Given the description of an element on the screen output the (x, y) to click on. 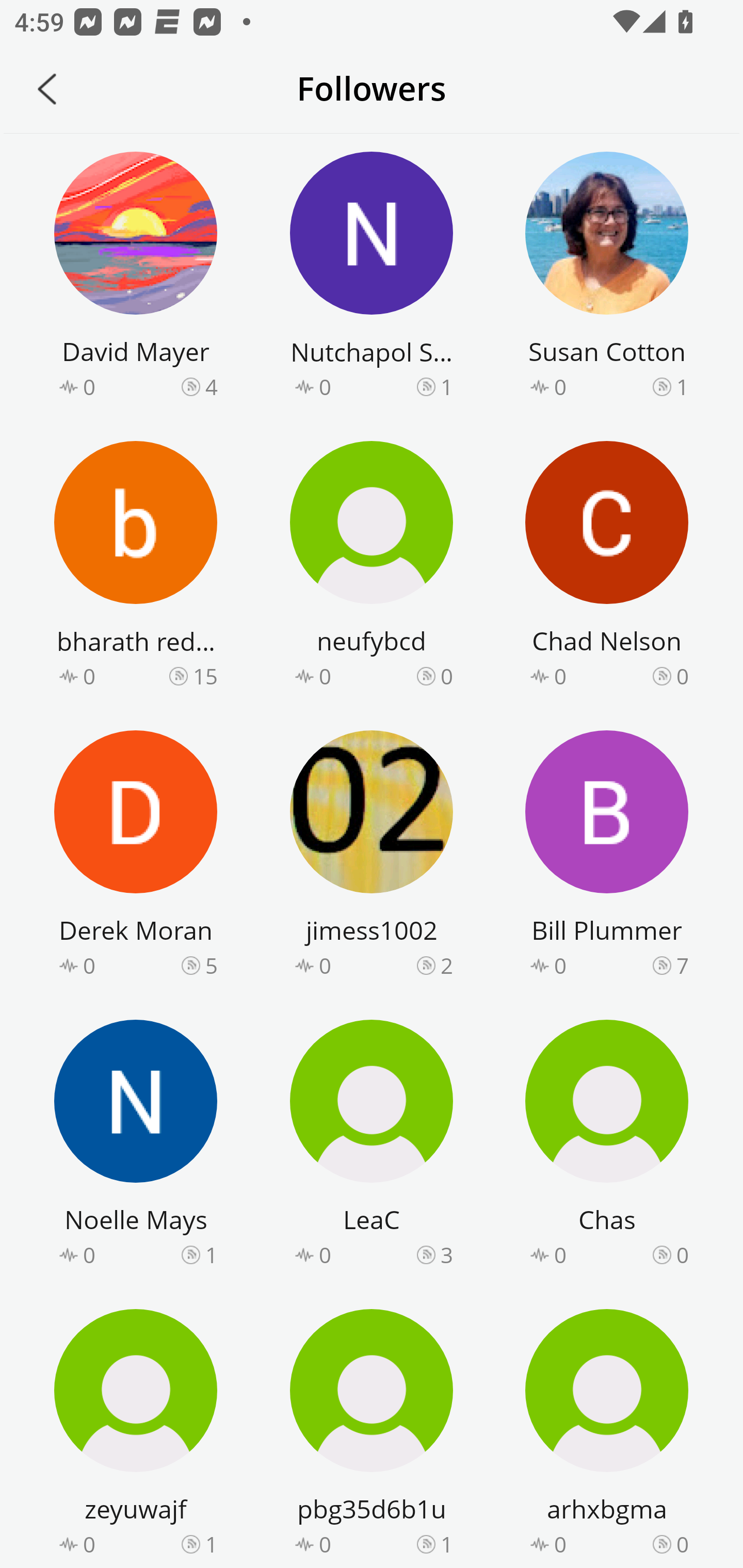
Back (46, 88)
David Mayer 0 4 (135, 278)
Nutchapol Subprasert 0 1 (371, 278)
Susan Cotton 0 1 (606, 278)
4 (211, 386)
1 (446, 386)
1 (682, 386)
bharath reddy 0 15 (135, 567)
neufybcd 0 0 (371, 567)
Chad Nelson 0 0 (606, 567)
15 (205, 676)
0 (446, 676)
0 (682, 676)
Derek Moran 0 5 (135, 856)
jimess1002 0 2 (371, 856)
Bill Plummer 0 7 (606, 856)
5 (211, 965)
2 (446, 965)
7 (682, 965)
Noelle Mays 0 1 (135, 1146)
LeaC 0 3 (371, 1146)
Chas 0 0 (606, 1146)
1 (211, 1255)
3 (446, 1255)
0 (682, 1255)
zeyuwajf 0 1 (135, 1435)
pbg35d6b1u 0 1 (371, 1435)
arhxbgma 0 0 (606, 1435)
1 (211, 1543)
1 (446, 1543)
0 (682, 1543)
